Given the description of an element on the screen output the (x, y) to click on. 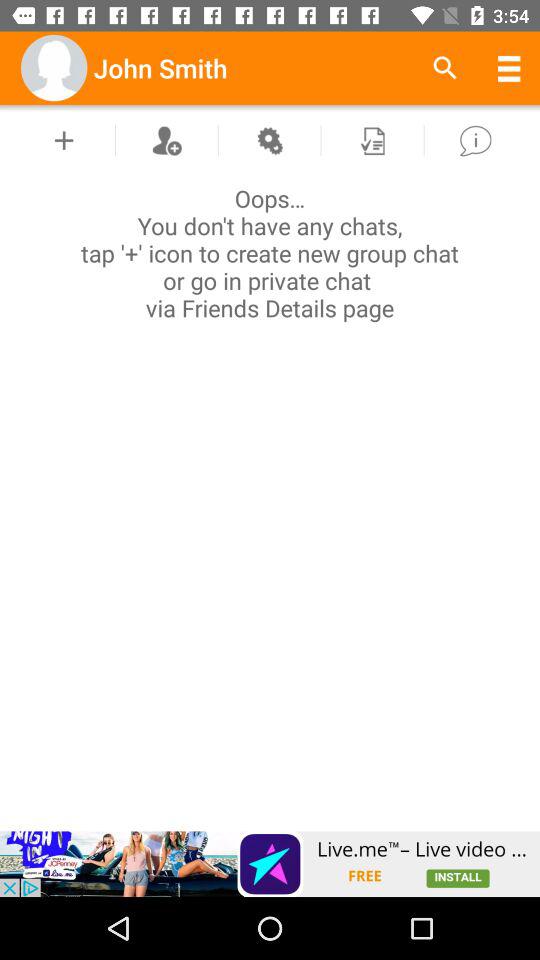
add friends (166, 140)
